Given the description of an element on the screen output the (x, y) to click on. 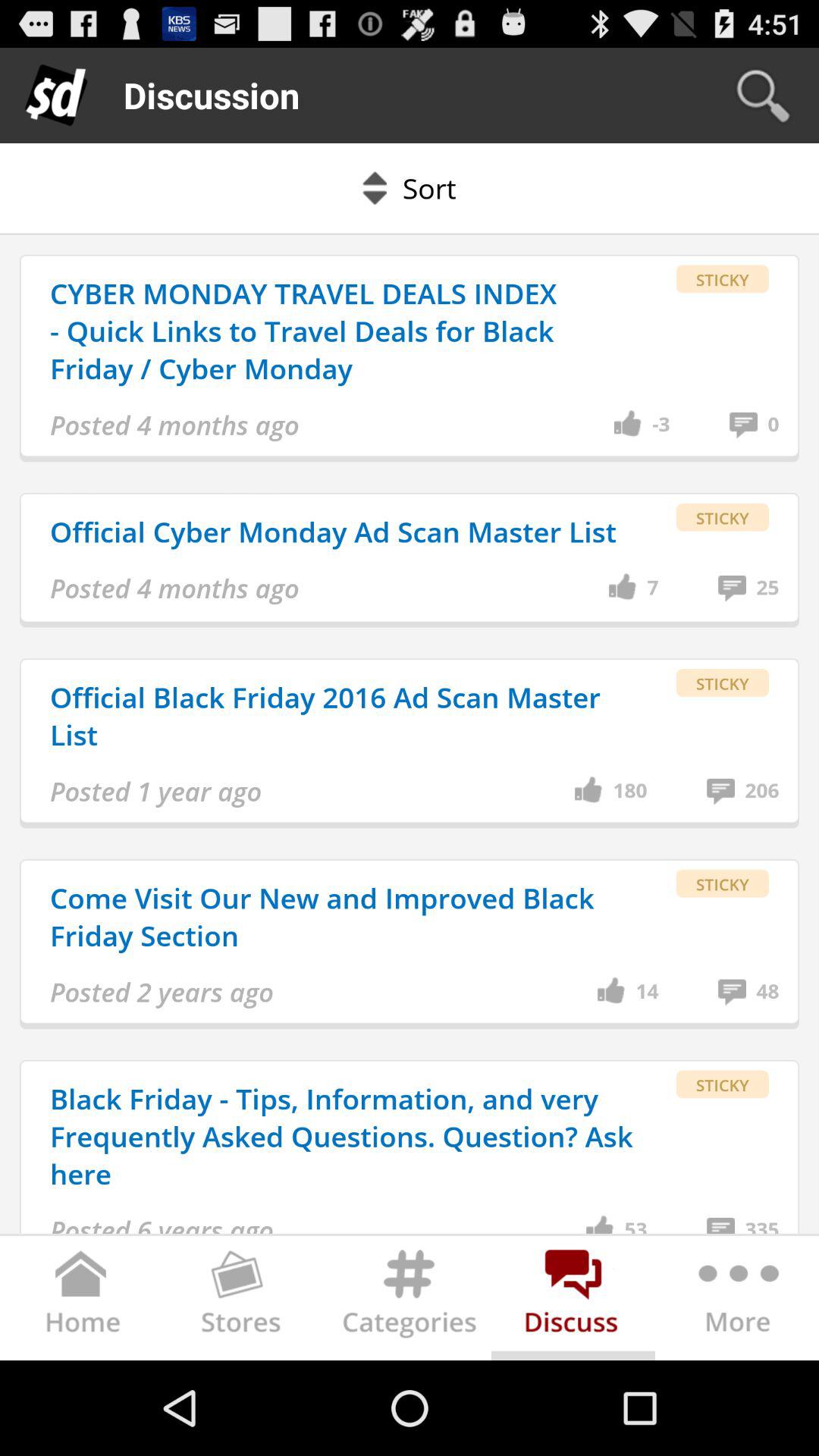
select the item below the sticky item (773, 425)
